Given the description of an element on the screen output the (x, y) to click on. 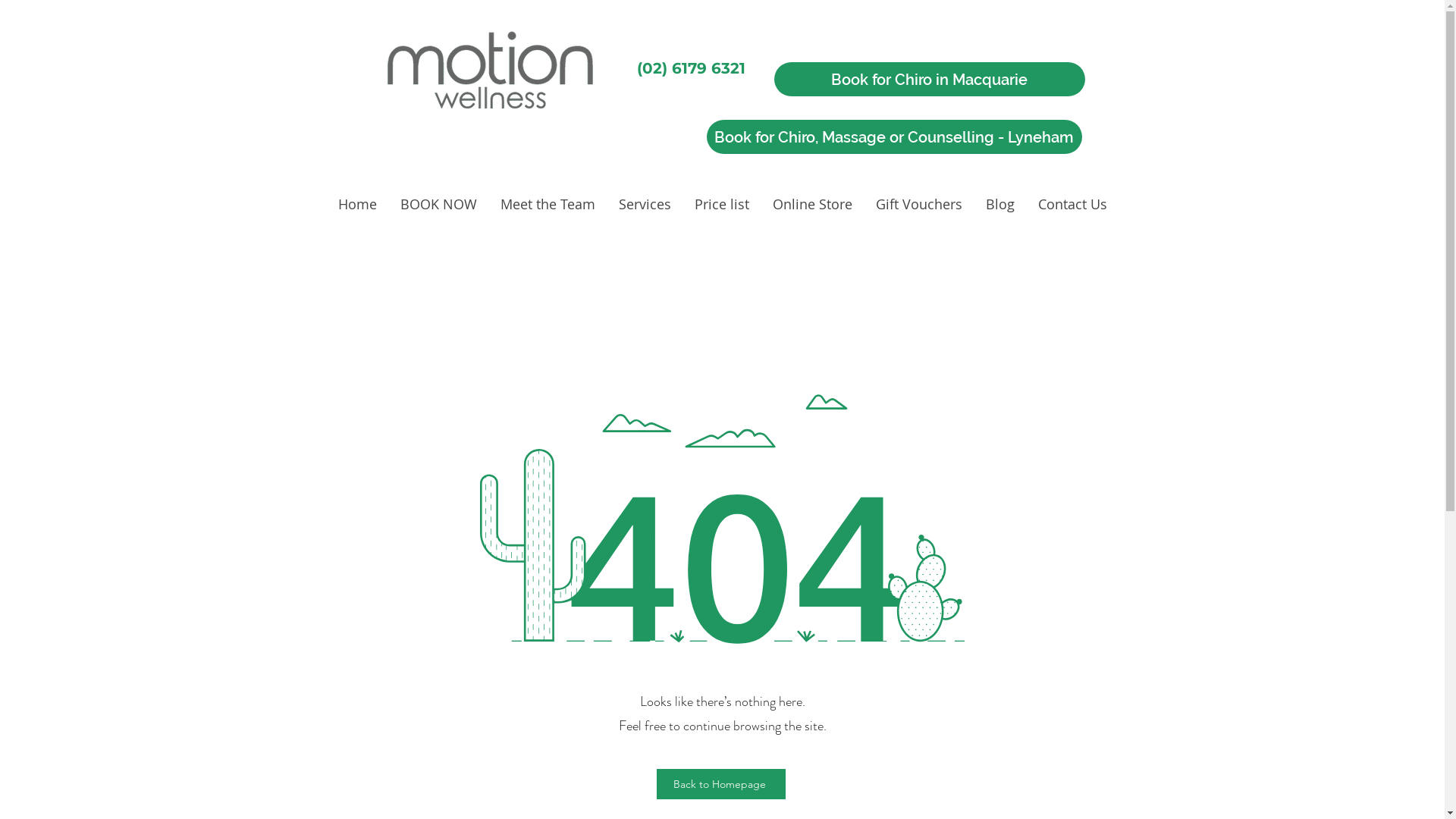
(02) 6179 6321 Element type: text (691, 68)
Book for Chiro, Massage or Counselling - Lyneham Element type: text (894, 136)
Contact Us Element type: text (1072, 204)
Price list Element type: text (720, 204)
Book for Chiro in Macquarie Element type: text (928, 79)
Blog Element type: text (999, 204)
Back to Homepage Element type: text (720, 783)
BOOK NOW Element type: text (437, 204)
Gift Vouchers Element type: text (918, 204)
Home Element type: text (356, 204)
Online Store Element type: text (812, 204)
Meet the Team Element type: text (546, 204)
